Given the description of an element on the screen output the (x, y) to click on. 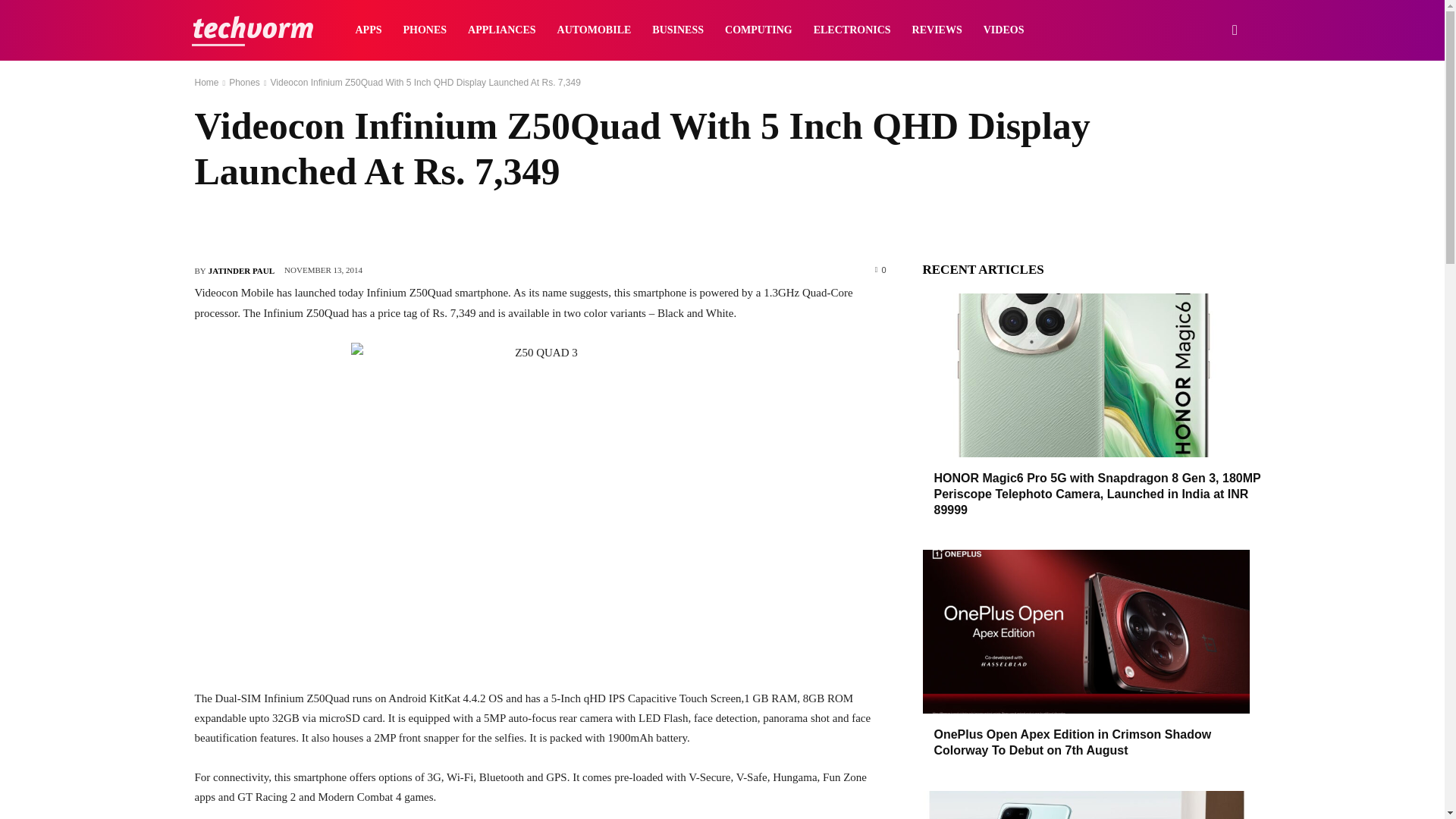
APPLIANCES (501, 30)
REVIEWS (936, 30)
VIDEOS (1003, 30)
ELECTRONICS (852, 30)
COMPUTING (758, 30)
View all posts in Phones (244, 81)
Search (1210, 102)
Home (205, 81)
AUTOMOBILE (594, 30)
PHONES (425, 30)
